Given the description of an element on the screen output the (x, y) to click on. 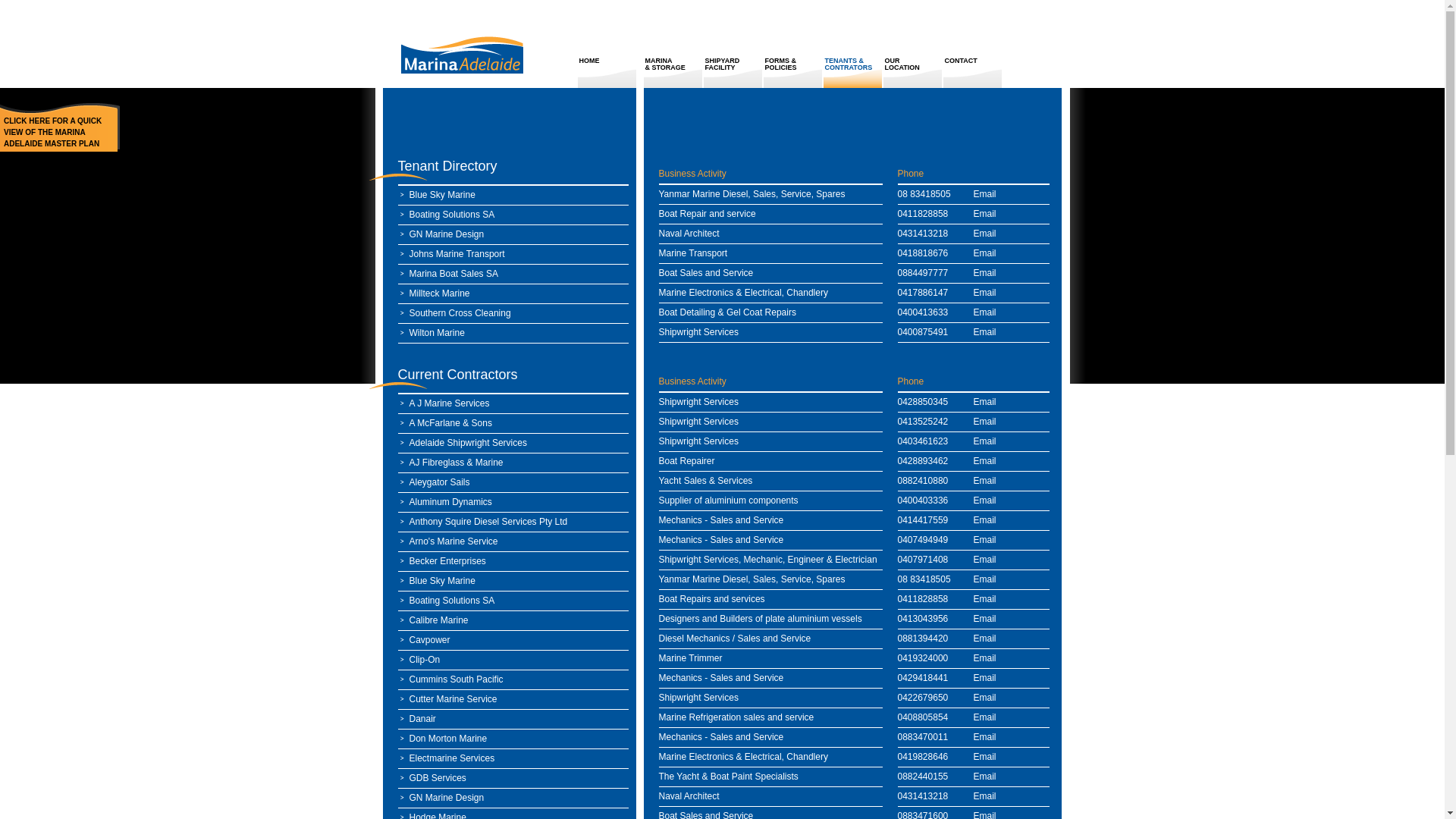
Email Element type: text (984, 252)
Email Element type: text (984, 421)
Email Element type: text (984, 441)
Email Element type: text (984, 579)
Email Element type: text (984, 598)
OUR
LOCATION Element type: text (911, 72)
Email Element type: text (984, 559)
Email Element type: text (984, 480)
Email Element type: text (984, 697)
Email Element type: text (984, 519)
Email Element type: text (984, 795)
Email Element type: text (984, 776)
FORMS &
POLICIES Element type: text (792, 72)
Email Element type: text (984, 756)
Email Element type: text (984, 500)
Email Element type: text (984, 193)
Email Element type: text (984, 539)
Email Element type: text (984, 657)
Email Element type: text (984, 460)
Email Element type: text (984, 401)
Email Element type: text (984, 618)
Email Element type: text (984, 717)
Email Element type: text (984, 213)
HOME Element type: text (607, 72)
CONTACT Element type: text (972, 72)
Email Element type: text (984, 638)
SHIPYARD
FACILITY Element type: text (732, 72)
Email Element type: text (984, 272)
Email Element type: text (984, 331)
MARINA
& STORAGE Element type: text (672, 72)
Email Element type: text (984, 736)
Email Element type: text (984, 312)
TENANTS &
CONTRATORS Element type: text (852, 72)
Email Element type: text (984, 677)
Email Element type: text (984, 292)
Email Element type: text (984, 233)
